Given the description of an element on the screen output the (x, y) to click on. 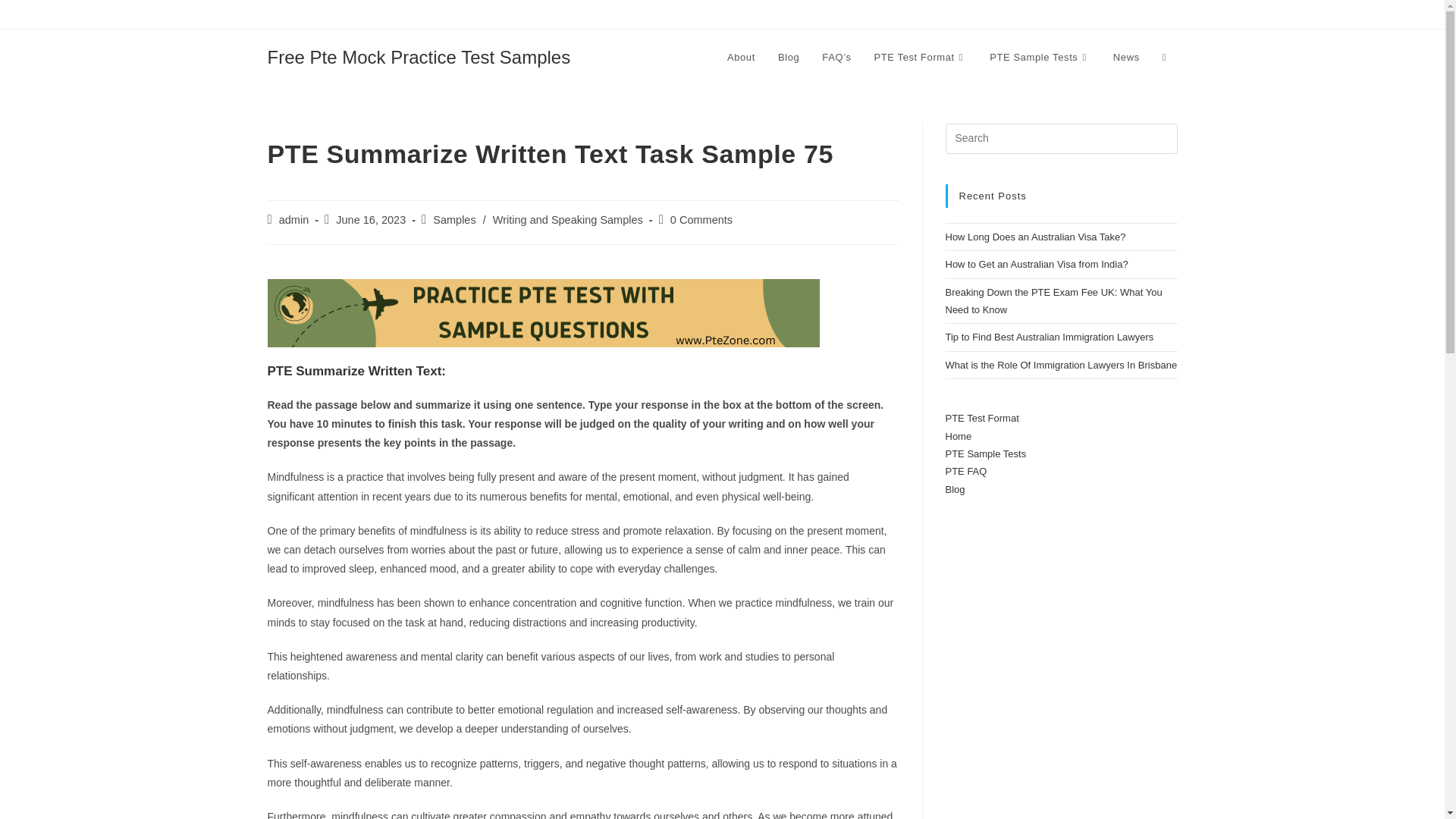
Writing and Speaking Samples (568, 219)
Samples (454, 219)
PTE Test Format (920, 57)
0 Comments (700, 219)
About (741, 57)
Posts by admin (293, 219)
admin (293, 219)
PTE Sample Tests (1040, 57)
Blog (788, 57)
Free Pte Mock Practice Test Samples (418, 56)
News (1126, 57)
